Given the description of an element on the screen output the (x, y) to click on. 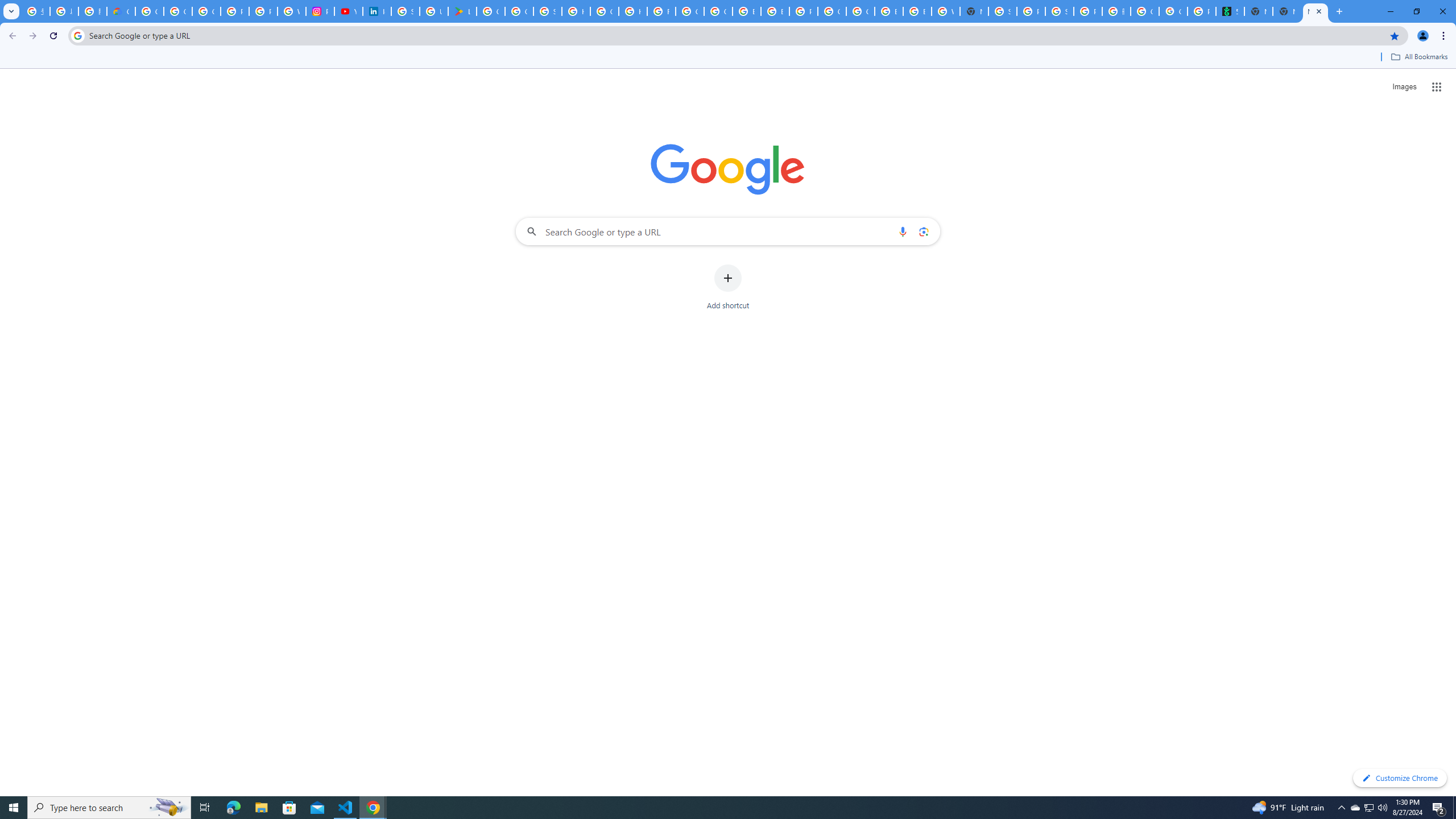
Browse Chrome as a guest - Computer - Google Chrome Help (888, 11)
Privacy Help Center - Policies Help (263, 11)
Search Google or type a URL (727, 230)
How do I create a new Google Account? - Google Account Help (632, 11)
